Given the description of an element on the screen output the (x, y) to click on. 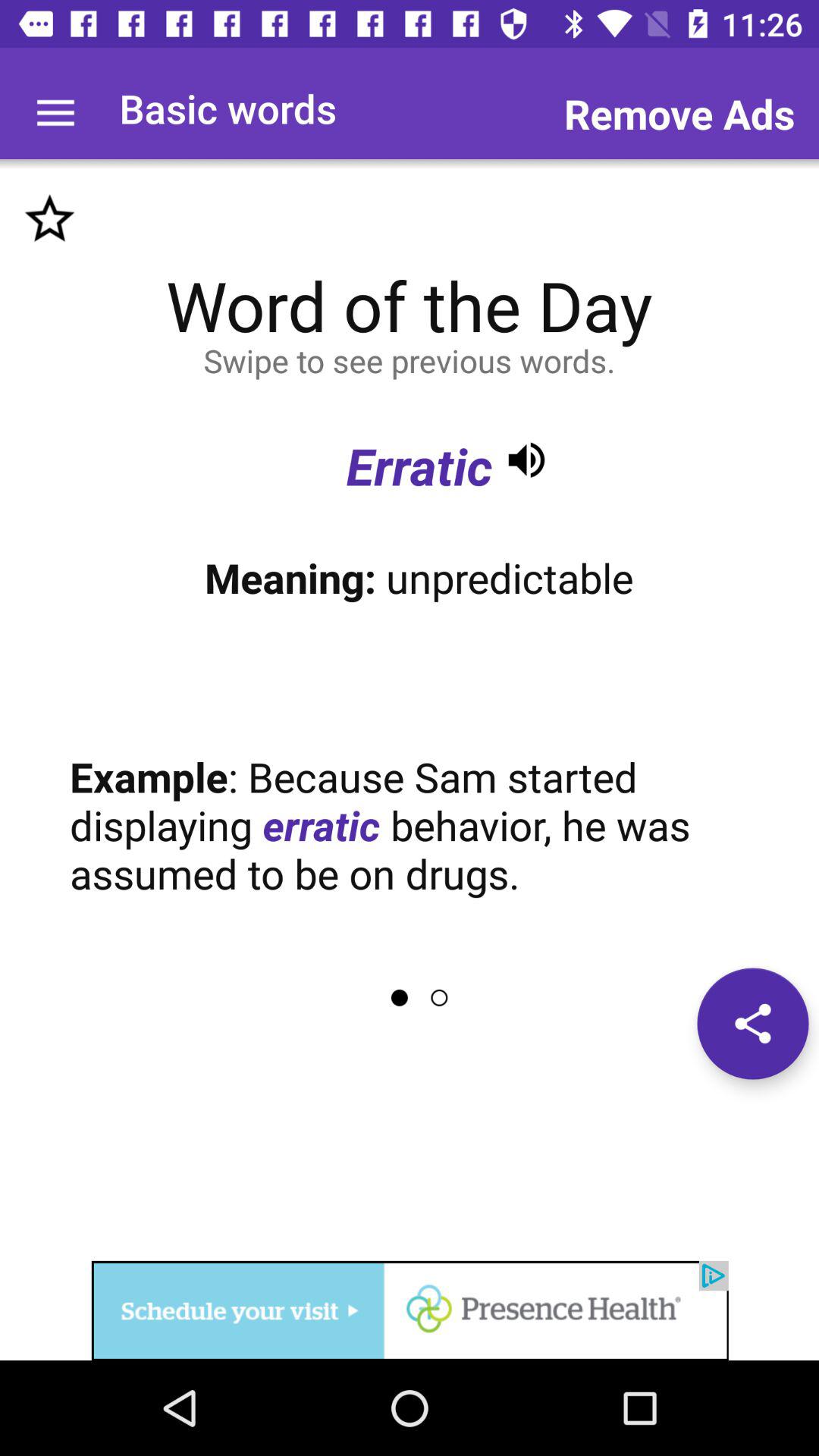
share (752, 1023)
